Given the description of an element on the screen output the (x, y) to click on. 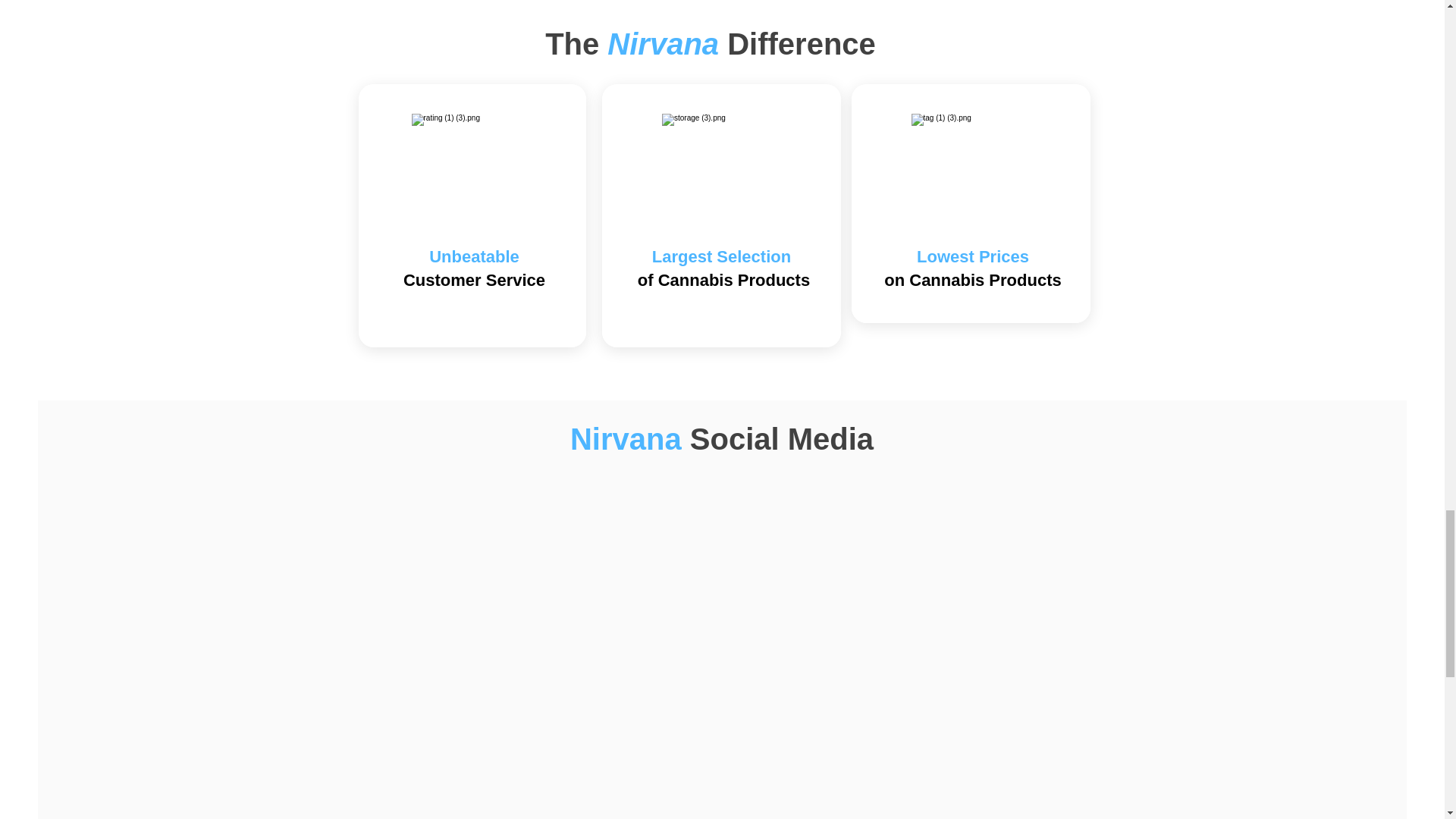
Locations (722, 74)
